Given the description of an element on the screen output the (x, y) to click on. 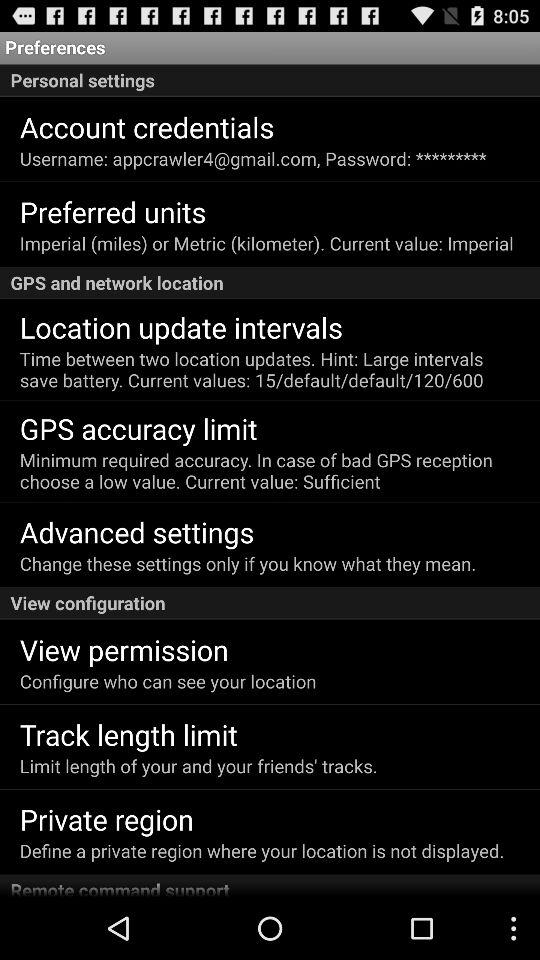
scroll to the account credentials icon (146, 126)
